Given the description of an element on the screen output the (x, y) to click on. 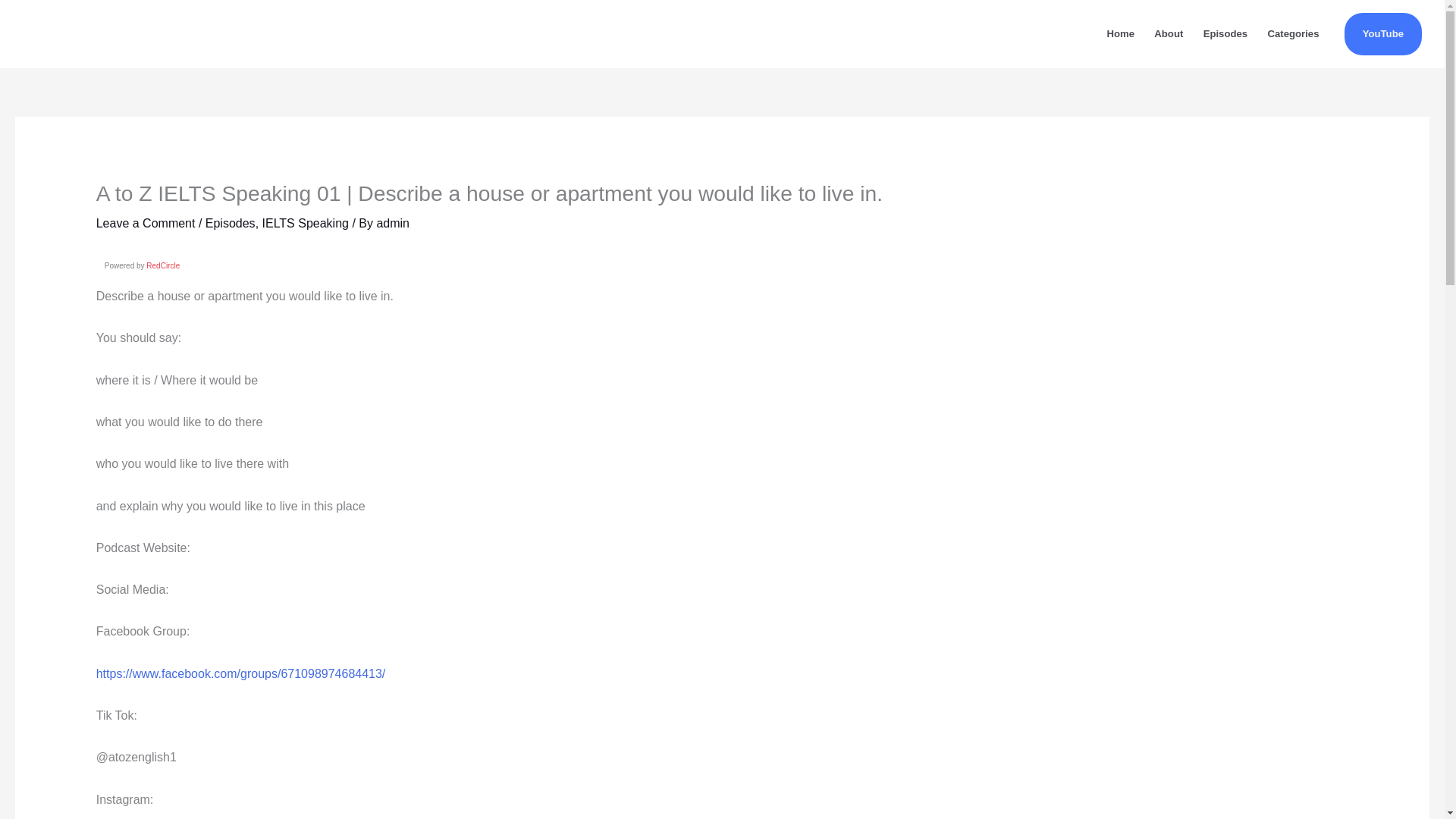
View all posts by admin (392, 223)
admin (392, 223)
YouTube (1382, 34)
IELTS Speaking (305, 223)
Home (1120, 33)
RedCircle (163, 265)
Leave a Comment (145, 223)
Episodes (1224, 33)
Episodes (230, 223)
About (1168, 33)
Categories (1292, 33)
